Given the description of an element on the screen output the (x, y) to click on. 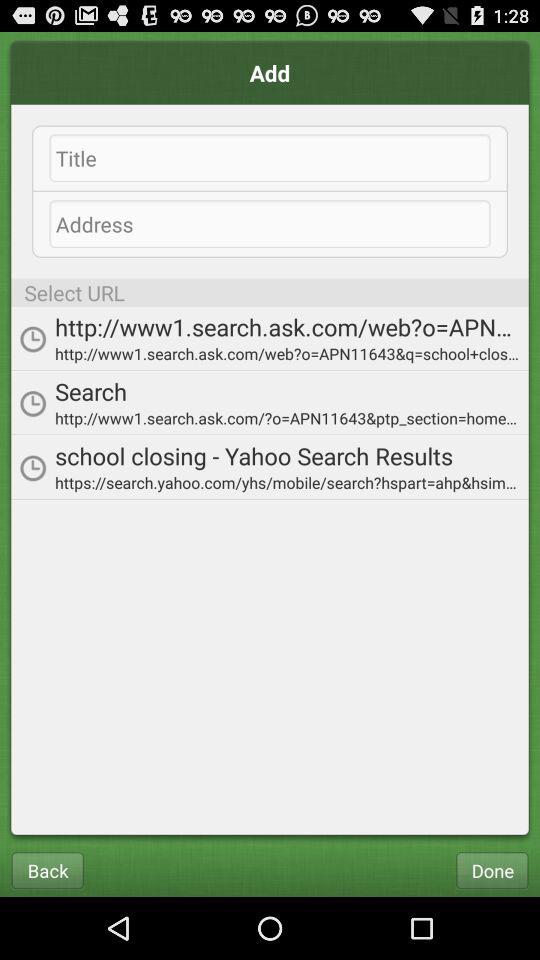
select the back button (47, 870)
